Given the description of an element on the screen output the (x, y) to click on. 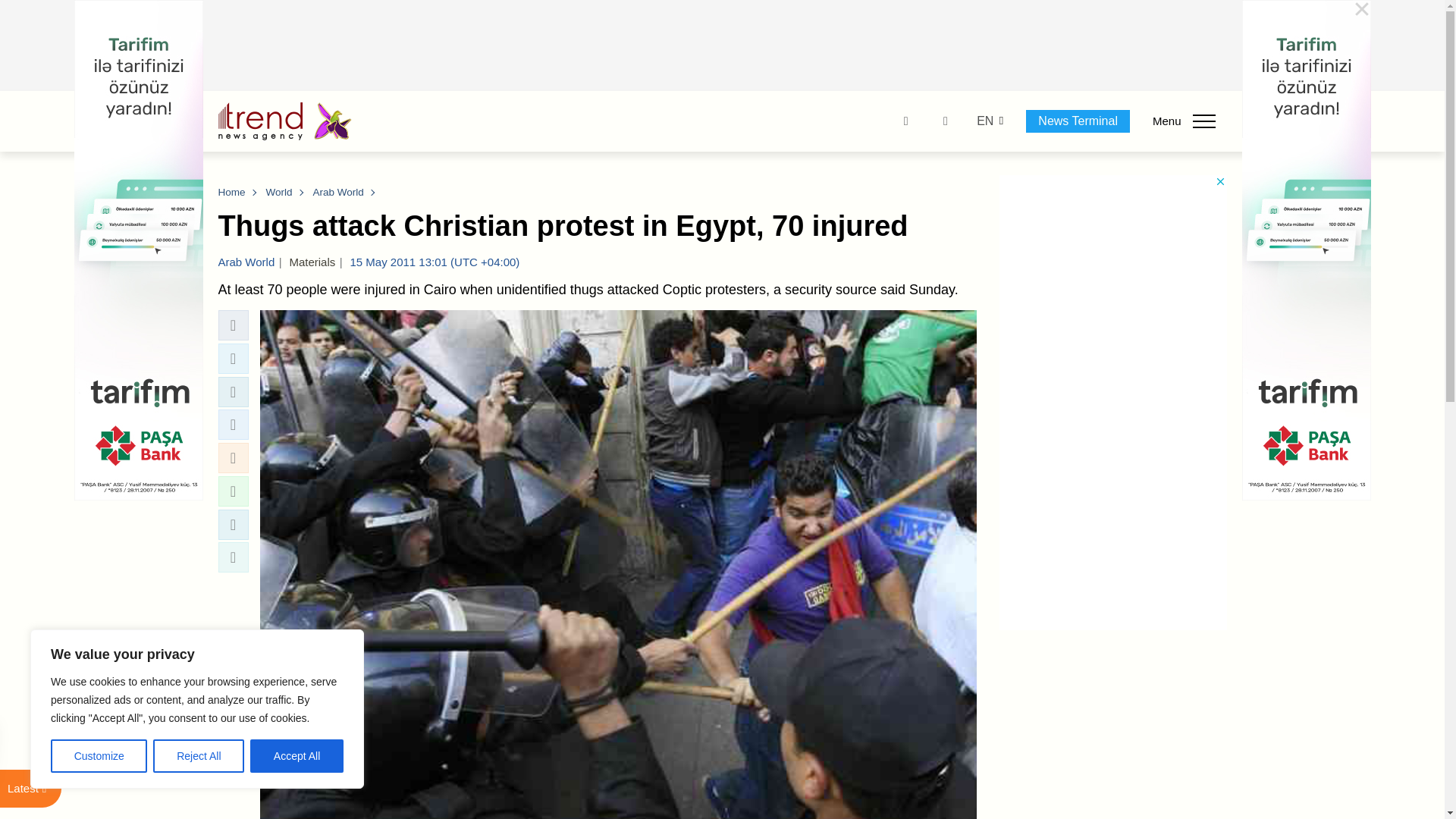
Reject All (198, 756)
Accept All (296, 756)
Customize (98, 756)
News Terminal (1077, 120)
3rd party ad content (722, 45)
English (984, 121)
EN (984, 121)
